Given the description of an element on the screen output the (x, y) to click on. 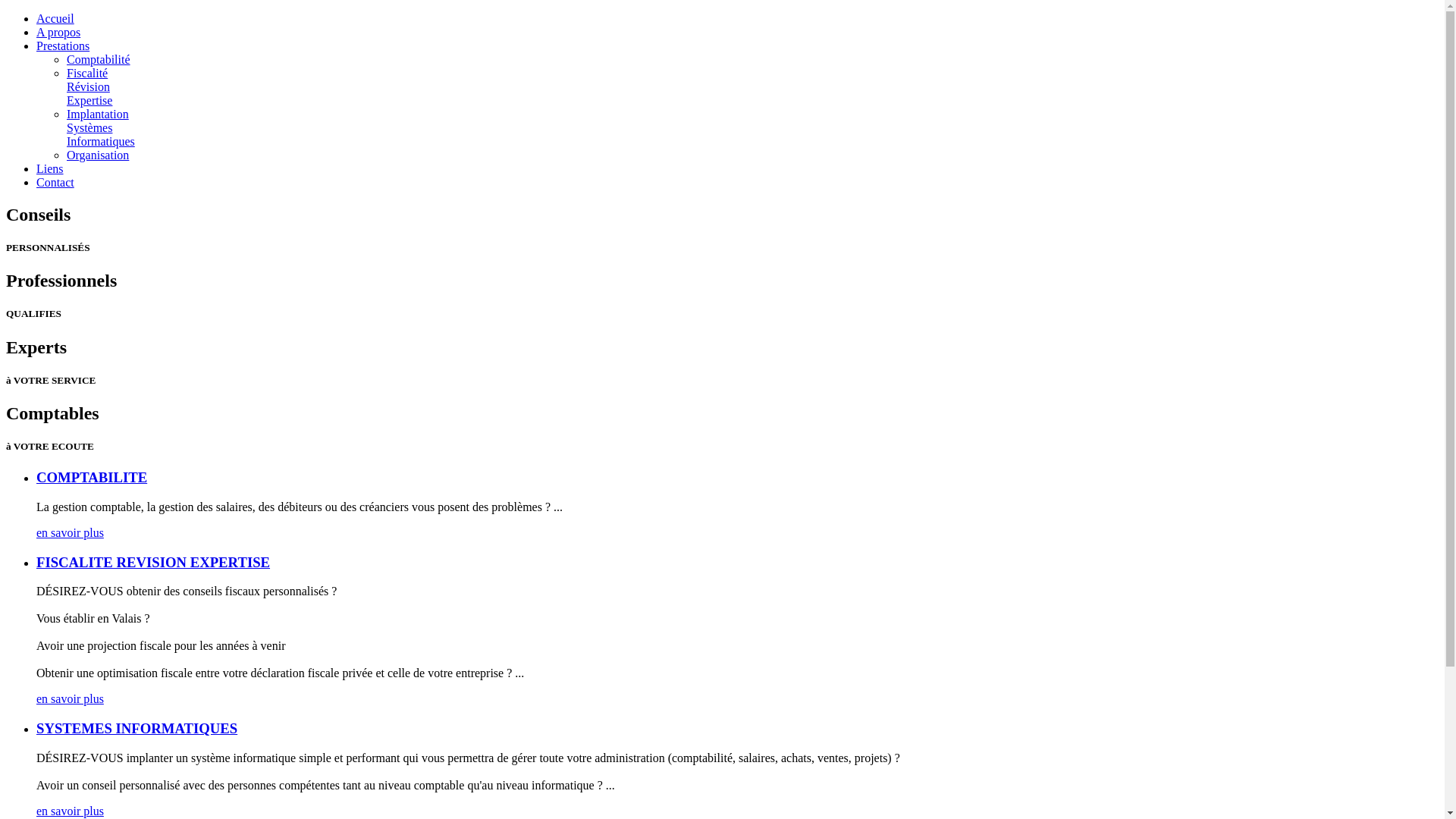
SYSTEMES INFORMATIQUES Element type: text (136, 728)
COMPTABILITE Element type: text (91, 477)
Organisation Element type: text (97, 154)
Accueil Element type: text (55, 18)
A propos Element type: text (58, 31)
en savoir plus Element type: text (69, 810)
FISCALITE REVISION EXPERTISE Element type: text (152, 562)
Liens Element type: text (49, 168)
Prestations Element type: text (62, 45)
Contact Element type: text (55, 181)
en savoir plus Element type: text (69, 532)
en savoir plus Element type: text (69, 698)
